Given the description of an element on the screen output the (x, y) to click on. 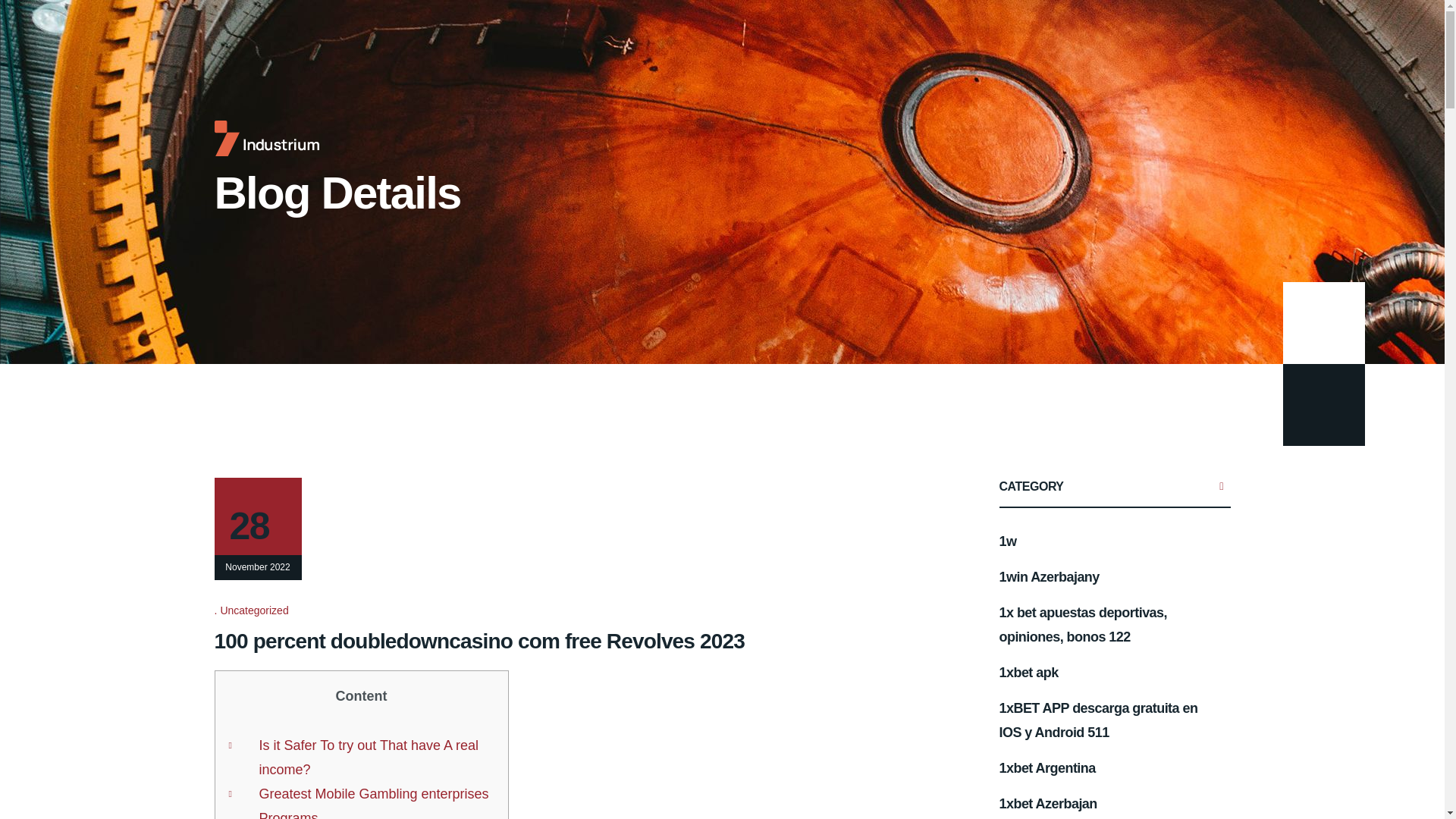
Is it Safer To try out That have A real income? (369, 757)
Greatest Mobile Gambling enterprises Programs (373, 802)
Uncategorized (255, 610)
